Given the description of an element on the screen output the (x, y) to click on. 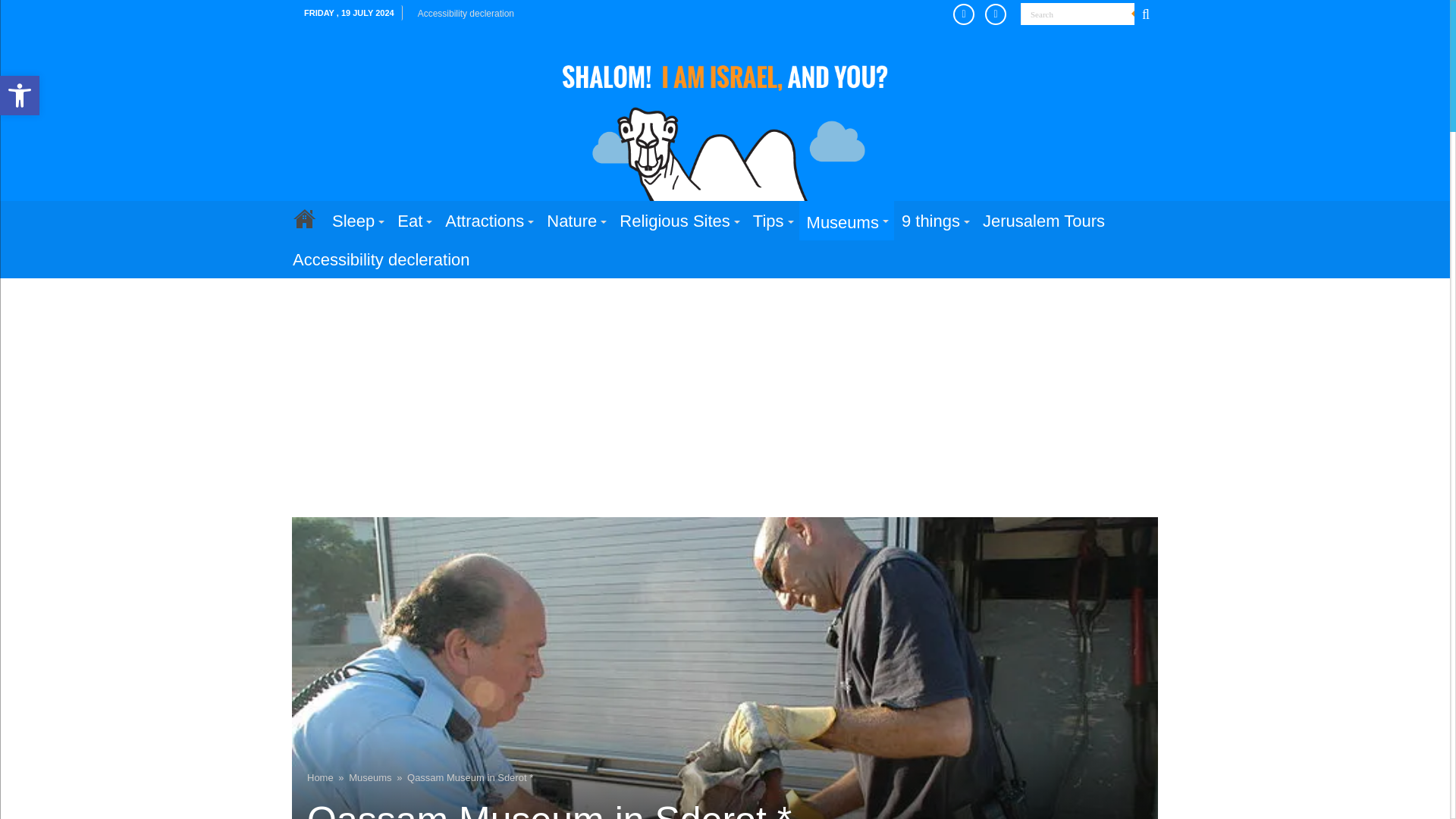
Accessibility decleration (465, 13)
Accessibility Tools (19, 95)
Israel and You (725, 123)
Search (1077, 14)
Search (19, 95)
Accessibility Tools (1077, 14)
Facebook (19, 95)
Search (967, 14)
Twitter (1145, 14)
